Given the description of an element on the screen output the (x, y) to click on. 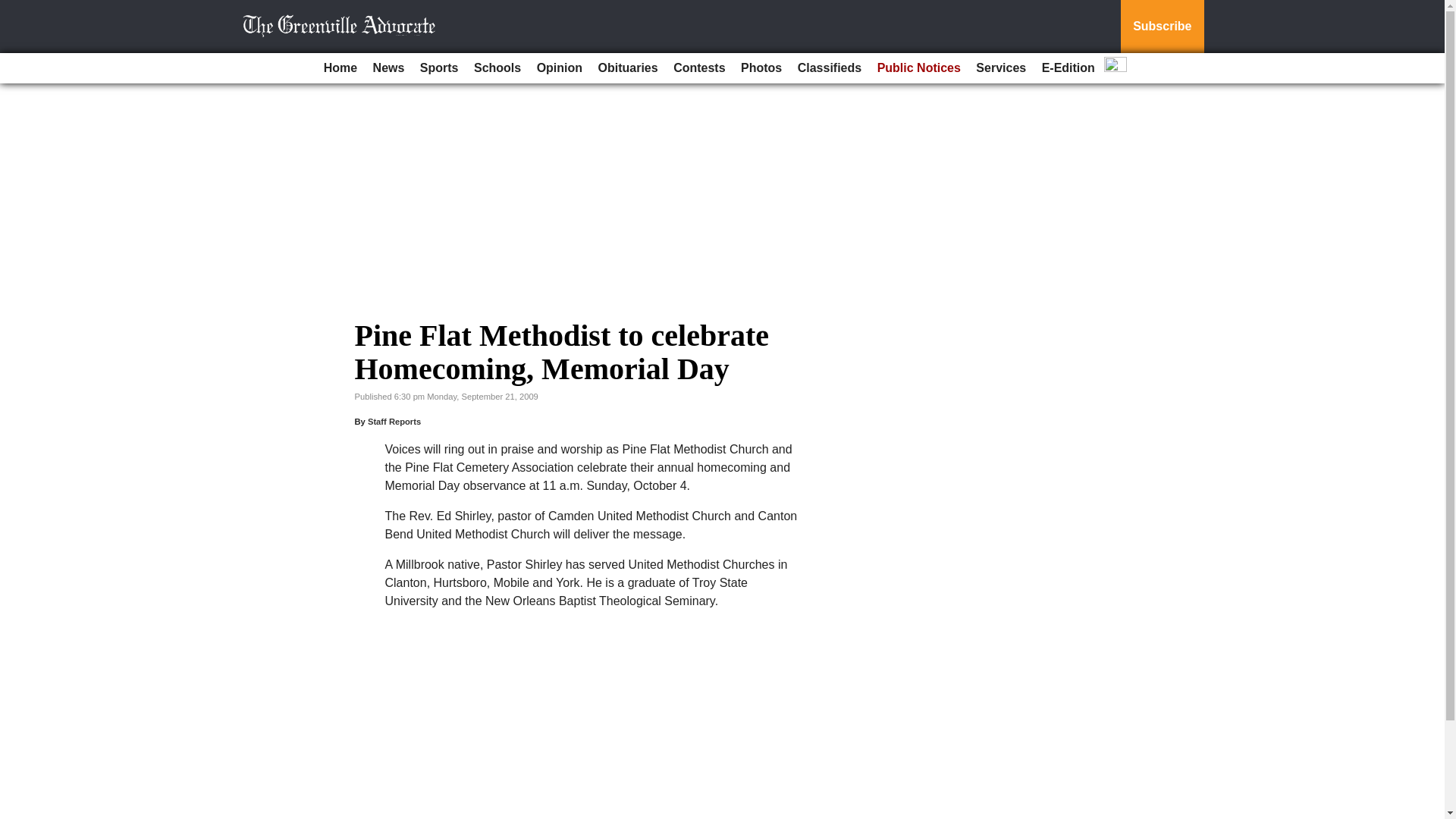
Staff Reports (394, 420)
Sports (438, 68)
Public Notices (918, 68)
Opinion (559, 68)
Home (339, 68)
Subscribe (1162, 26)
Obituaries (627, 68)
Contests (698, 68)
News (388, 68)
Schools (497, 68)
